Given the description of an element on the screen output the (x, y) to click on. 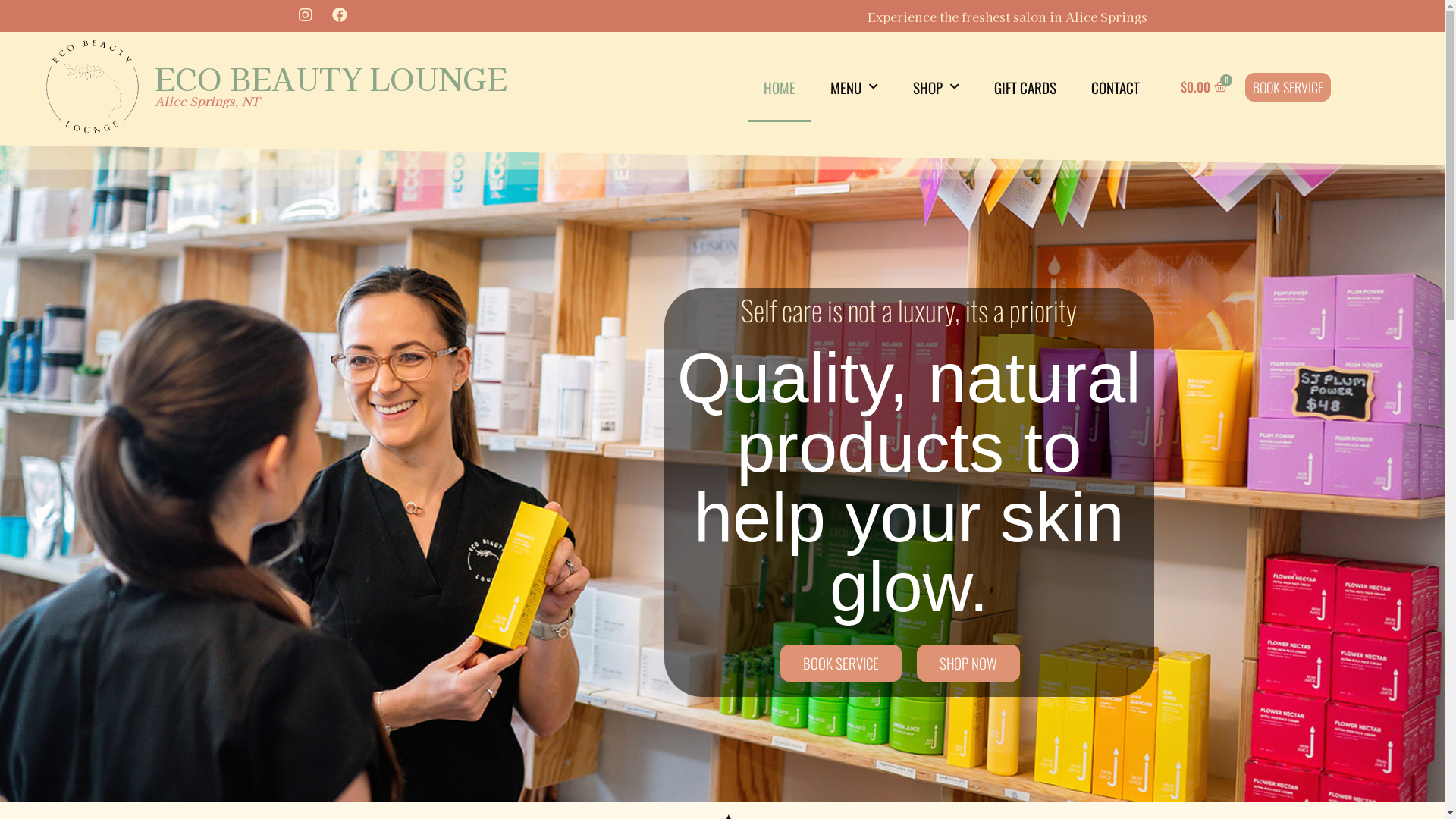
BOOK SERVICE Element type: text (1287, 86)
SHOP NOW Element type: text (967, 662)
CONTACT Element type: text (1115, 87)
SHOP Element type: text (935, 87)
MENU Element type: text (854, 87)
HOME Element type: text (779, 87)
GIFT CARDS Element type: text (1025, 87)
BOOK SERVICE Element type: text (840, 662)
$0.00
0 Element type: text (1203, 86)
